Given the description of an element on the screen output the (x, y) to click on. 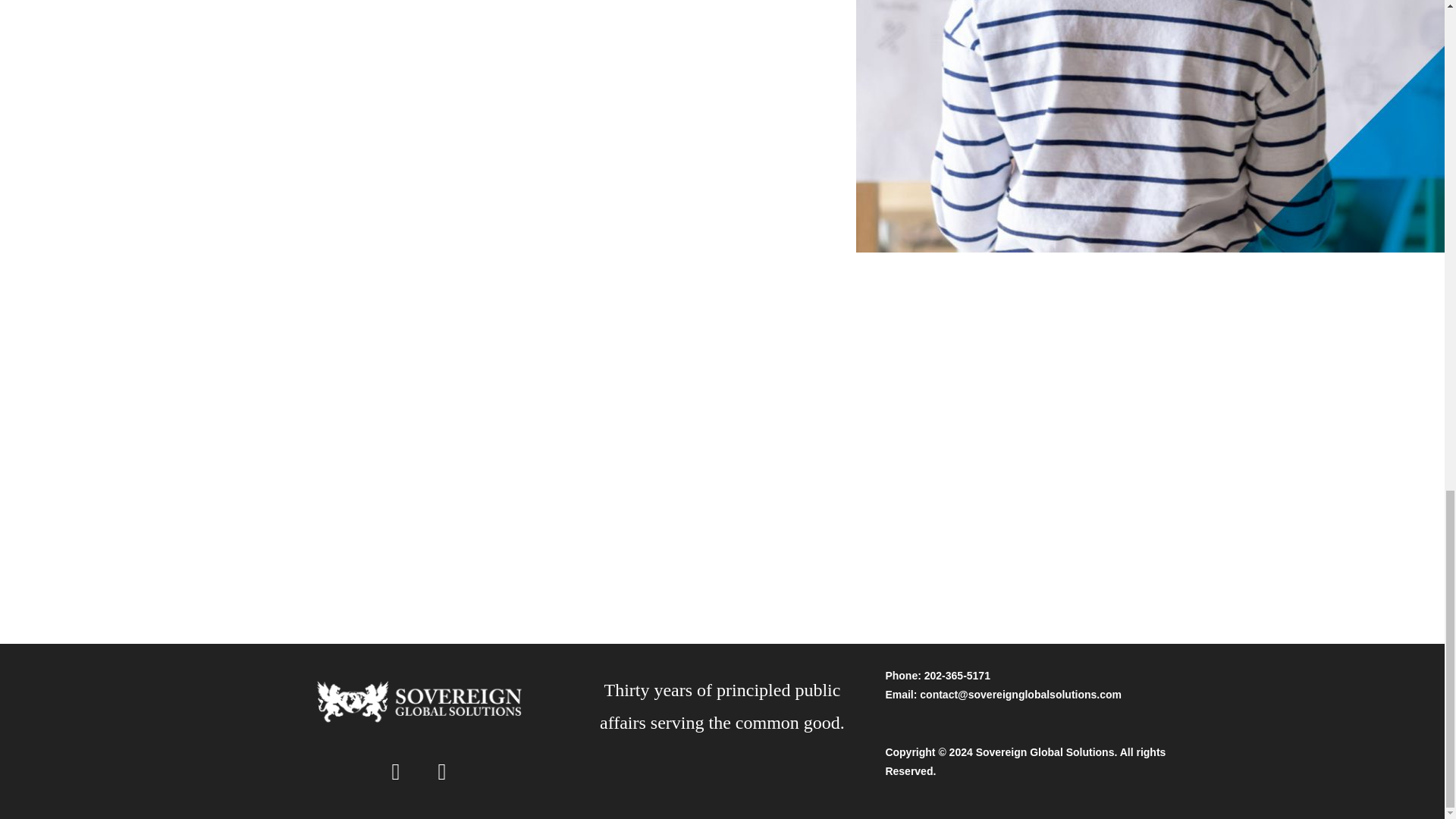
202-365-5171 (957, 675)
